Given the description of an element on the screen output the (x, y) to click on. 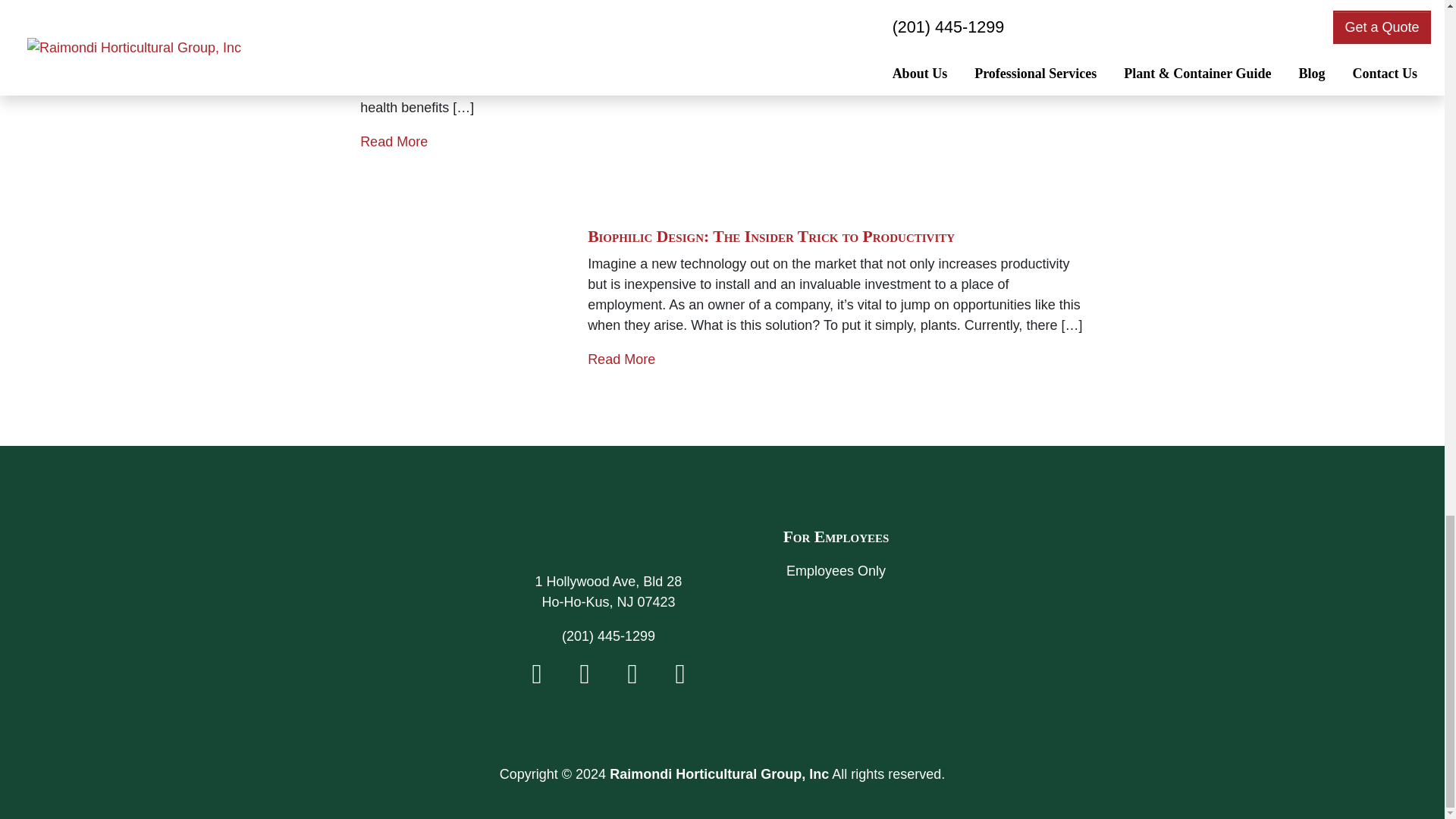
Read More (393, 141)
LinkedIn (679, 678)
Biophilic Design: The Insider Trick to Productivity (771, 236)
Facebook (536, 678)
Read More (621, 359)
Living Walls Do Come in Smaller Packages (515, 3)
Instagram (632, 678)
Twitter (584, 678)
Employees Only (835, 571)
Raimondi Horticultural Group, Inc (608, 535)
